Given the description of an element on the screen output the (x, y) to click on. 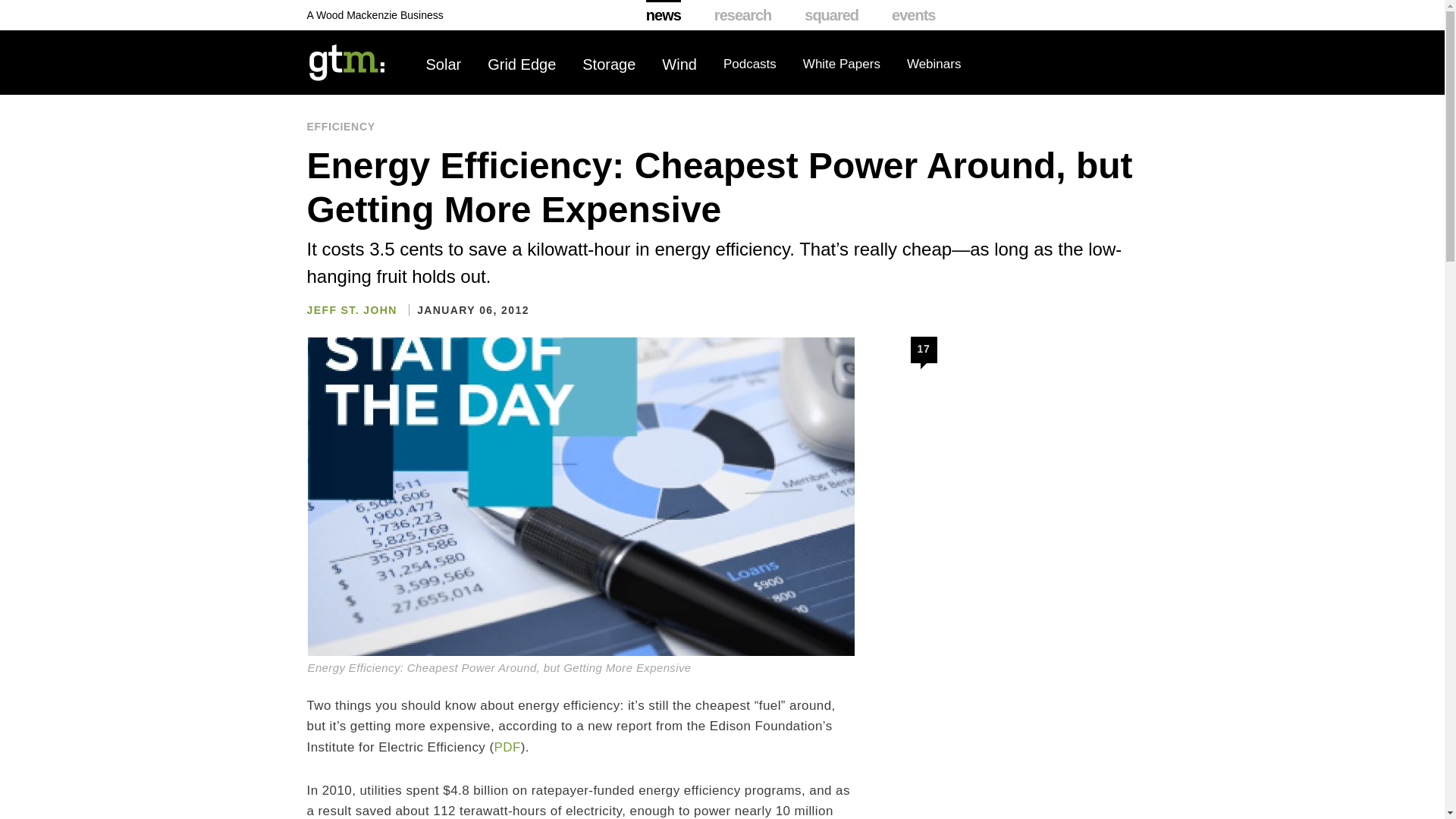
events (912, 15)
Grid Edge (521, 64)
Wind (679, 64)
Podcasts (749, 64)
squared (832, 15)
Solar (443, 64)
White Papers (841, 64)
research (742, 15)
news (663, 15)
Storage (608, 64)
